Given the description of an element on the screen output the (x, y) to click on. 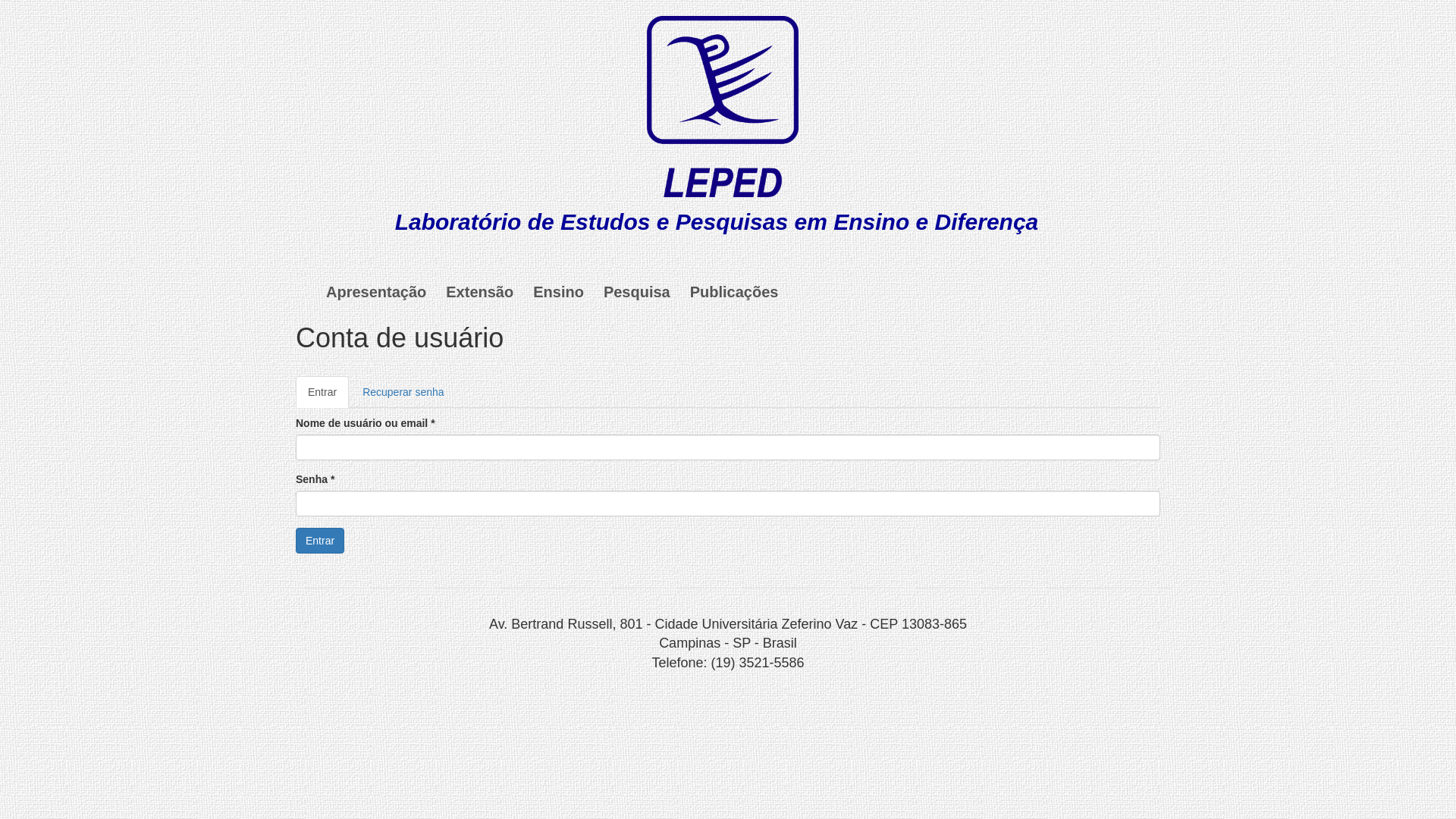
Recuperar senha Element type: text (402, 391)
Ensino Element type: text (558, 291)
Entrar Element type: text (319, 540)
Pesquisa Element type: text (636, 291)
Entrar
(aba ativa) Element type: text (321, 391)
